Given the description of an element on the screen output the (x, y) to click on. 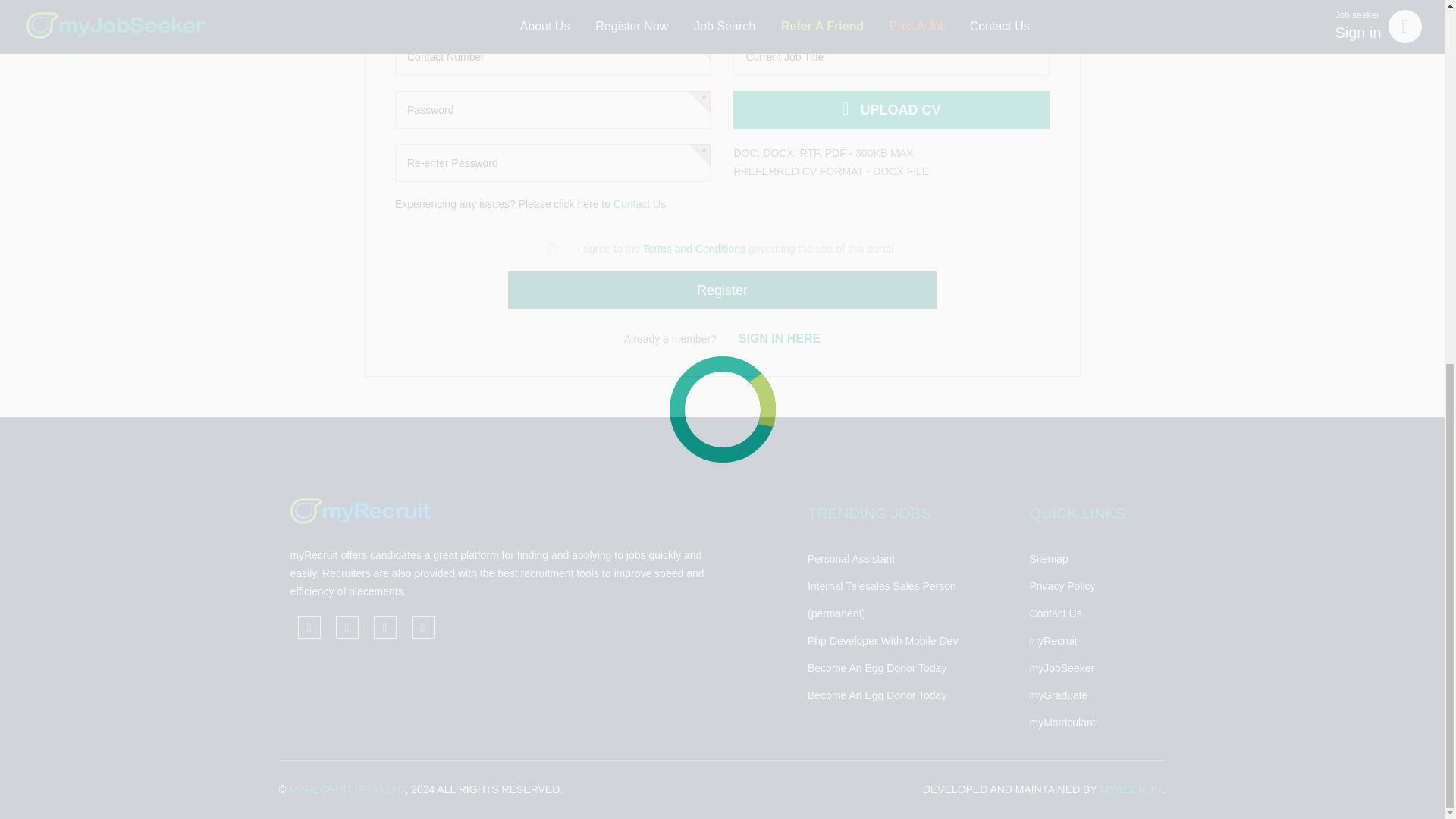
Privacy Policy (1091, 585)
Register (722, 290)
Contact Us (638, 203)
SIGN IN HERE (779, 338)
Register (722, 290)
Refer a friend (421, 626)
myMatriculant (1091, 722)
myGraduate (1091, 695)
Contact Us (1091, 613)
Personal Assistant (907, 558)
Sitemap (1091, 558)
Terms and Conditions (694, 248)
Php Developer With Mobile Dev (907, 640)
Become An Egg Donor Today (907, 695)
MYRECRUIT (1130, 789)
